Given the description of an element on the screen output the (x, y) to click on. 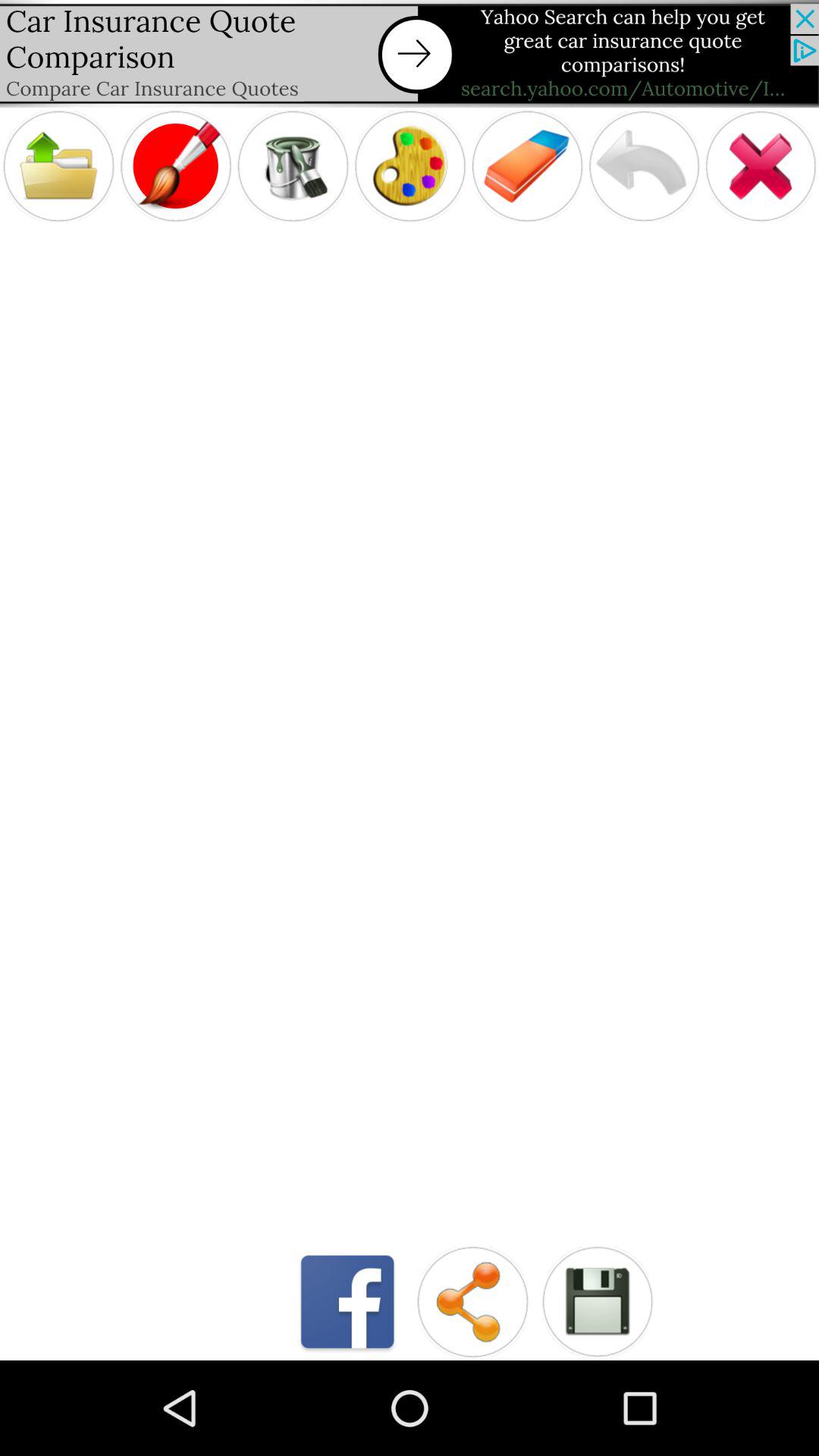
advertising (409, 53)
